Given the description of an element on the screen output the (x, y) to click on. 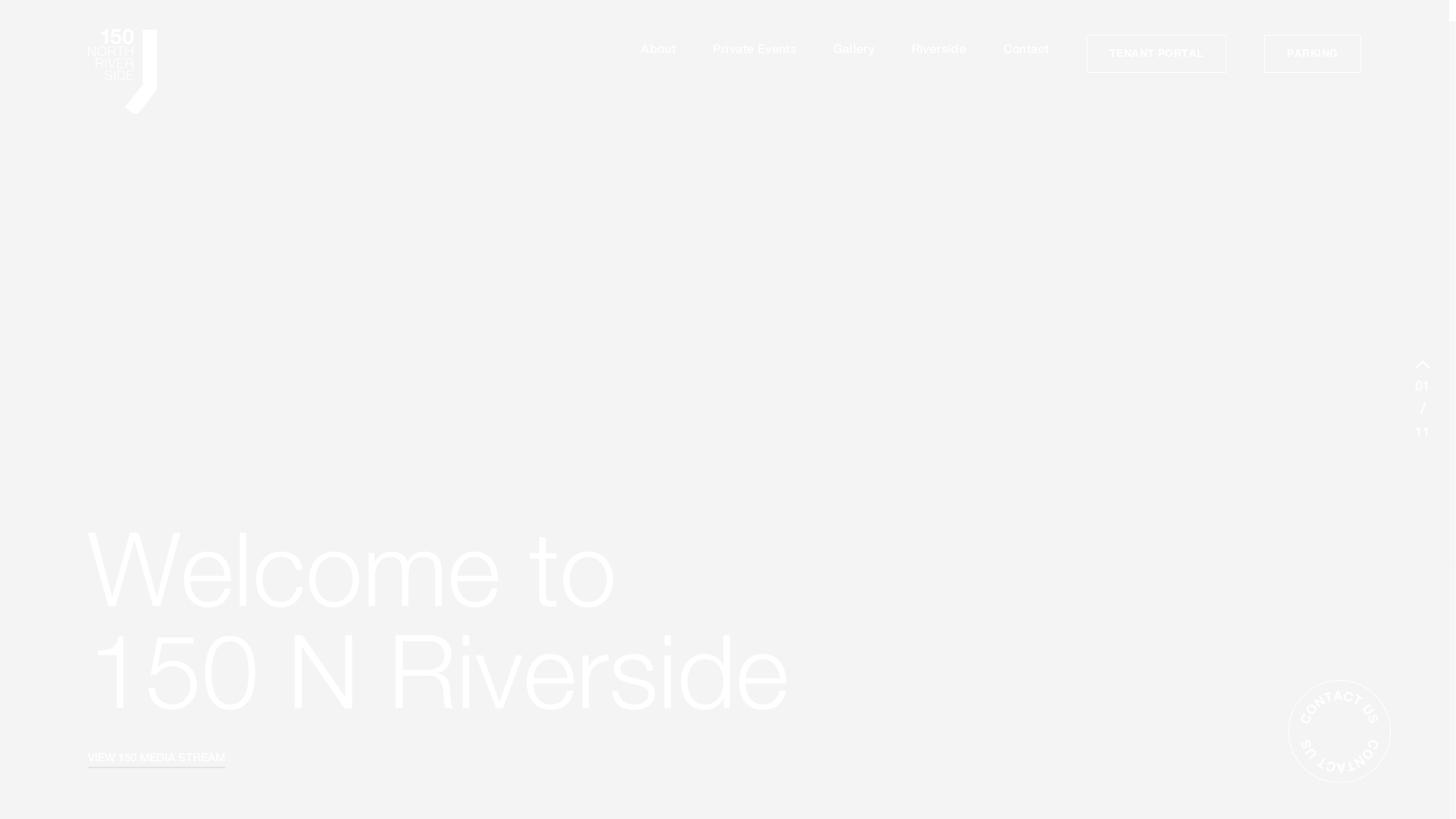
PARKING Element type: text (1312, 53)
TENANT PORTAL Element type: text (1155, 53)
Private Events Element type: text (754, 48)
VIEW 150 MEDIA STREAM Element type: text (156, 757)
About Element type: text (657, 48)
Contact Element type: text (1026, 48)
Riverside Element type: text (938, 48)
Gallery Element type: text (854, 48)
home Element type: hover (129, 72)
